Given the description of an element on the screen output the (x, y) to click on. 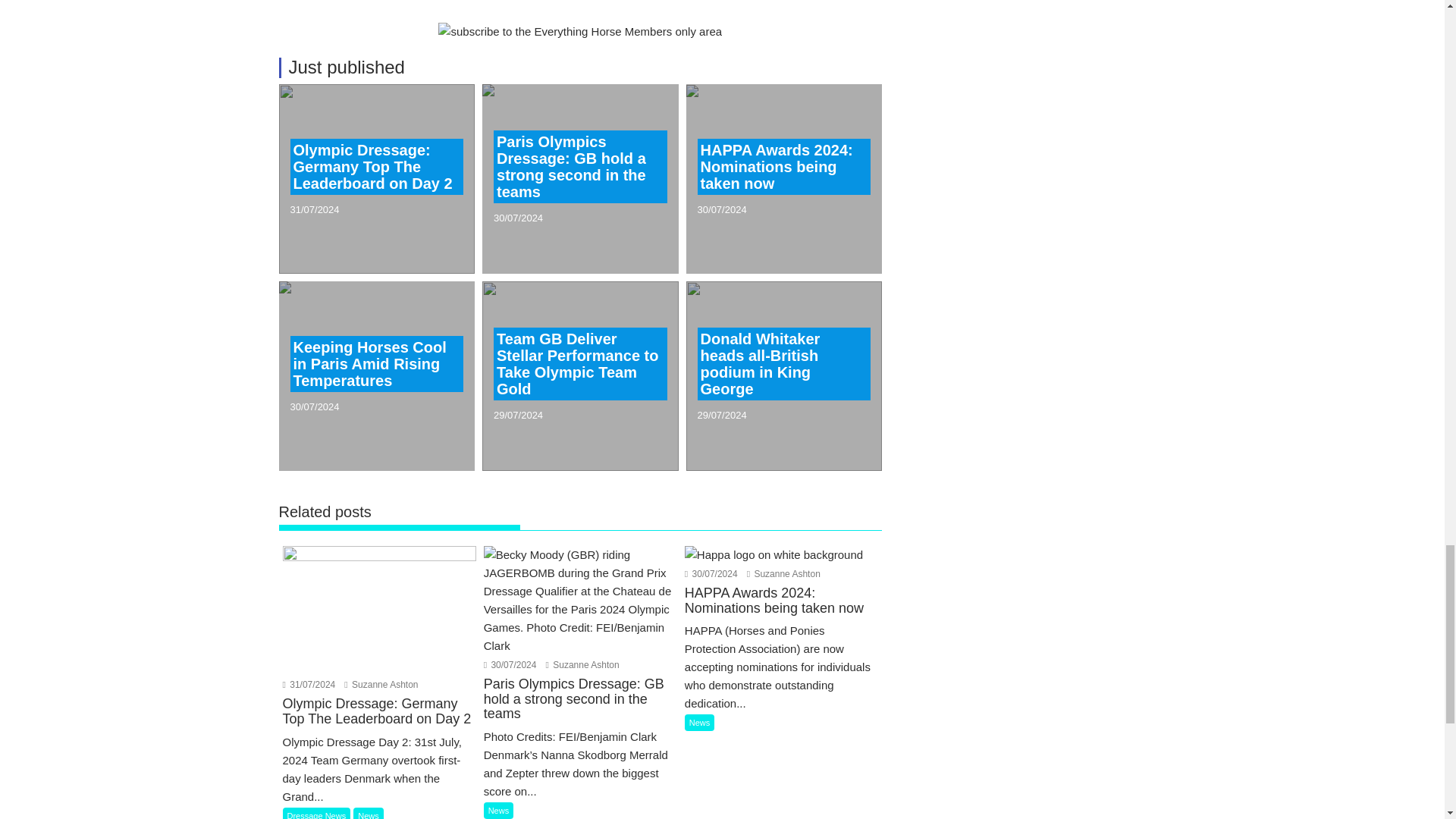
Suzanne Ashton (380, 684)
Suzanne Ashton (583, 665)
Suzanne Ashton (783, 573)
